Given the description of an element on the screen output the (x, y) to click on. 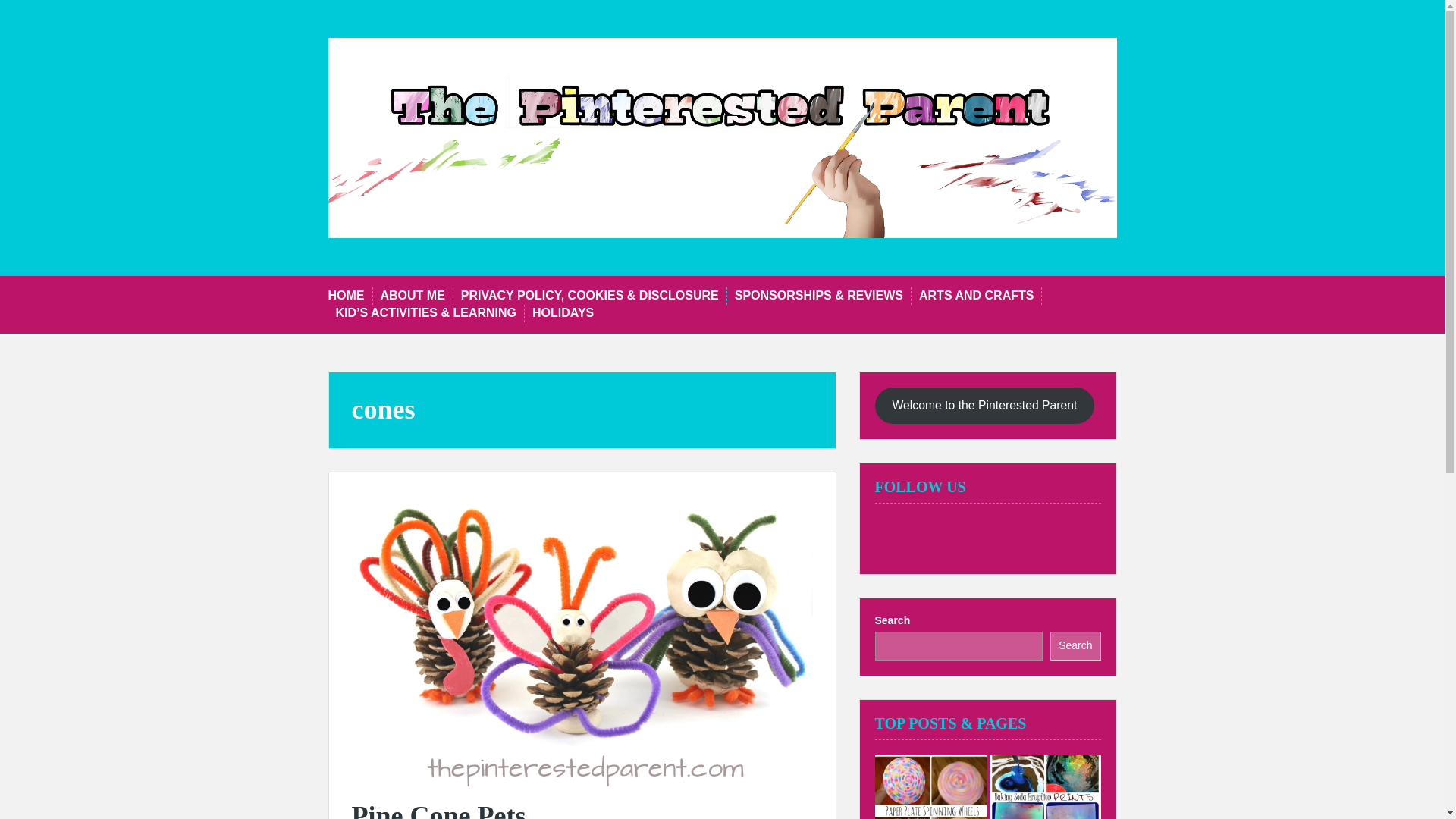
Paper Plate Spinning Wheel (931, 787)
The Pinterested Parent (721, 137)
HOLIDAYS (563, 313)
ARTS AND CRAFTS (975, 295)
HOME (345, 295)
Pine Cone Pets (438, 809)
Baking Soda Eruption Prints (1044, 787)
Pine Cone Pets (582, 639)
ABOUT ME (412, 295)
